Given the description of an element on the screen output the (x, y) to click on. 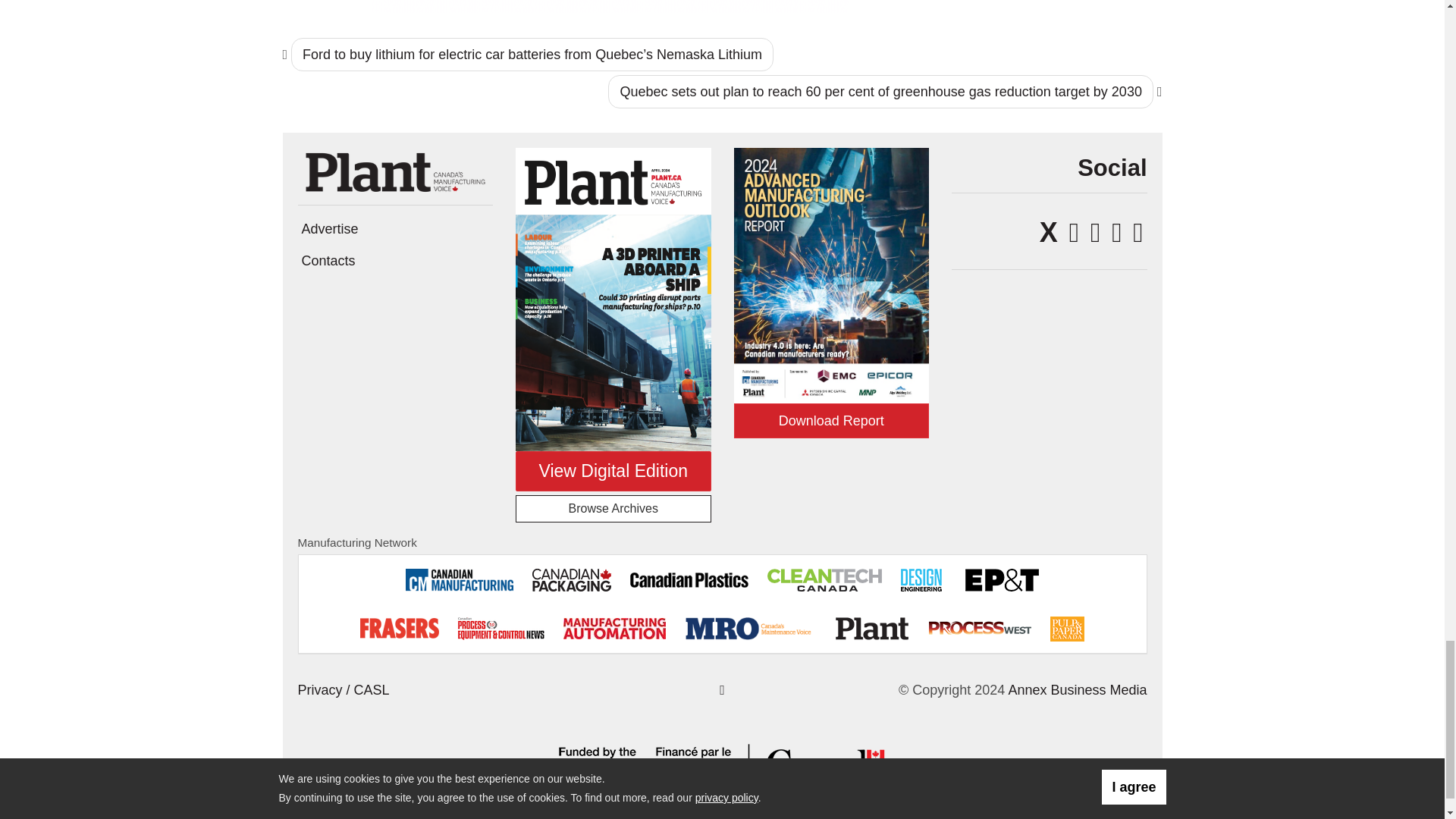
Annex Business Media (1077, 689)
Plant (395, 171)
3rd party ad content (609, 6)
